Given the description of an element on the screen output the (x, y) to click on. 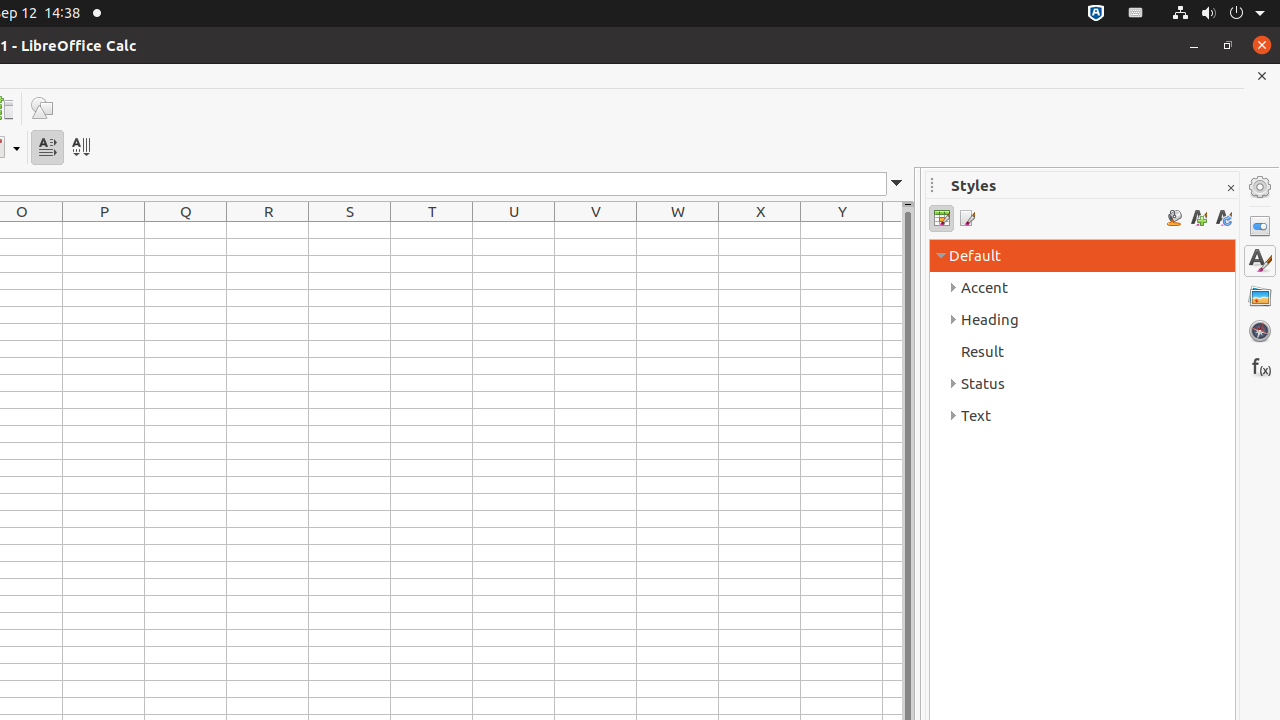
R1 Element type: table-cell (268, 230)
U1 Element type: table-cell (514, 230)
Properties Element type: radio-button (1260, 226)
T1 Element type: table-cell (432, 230)
Text direction from left to right Element type: toggle-button (47, 147)
